Given the description of an element on the screen output the (x, y) to click on. 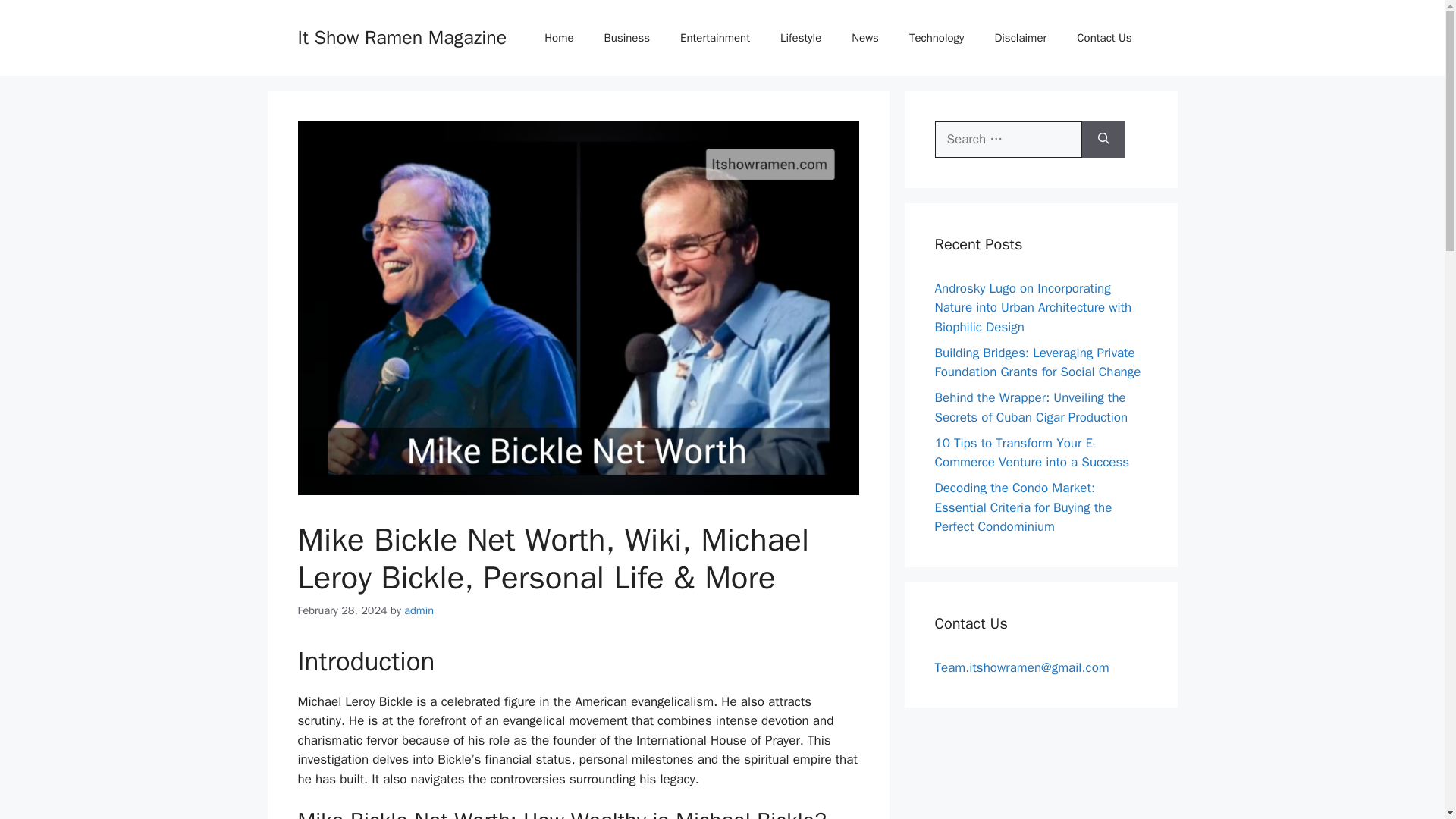
Home (558, 37)
It Show Ramen Magazine (401, 37)
Search for: (1007, 139)
Lifestyle (800, 37)
Disclaimer (1019, 37)
Entertainment (715, 37)
Technology (936, 37)
10 Tips to Transform Your E-Commerce Venture into a Success (1031, 452)
admin (418, 610)
News (864, 37)
View all posts by admin (418, 610)
